Given the description of an element on the screen output the (x, y) to click on. 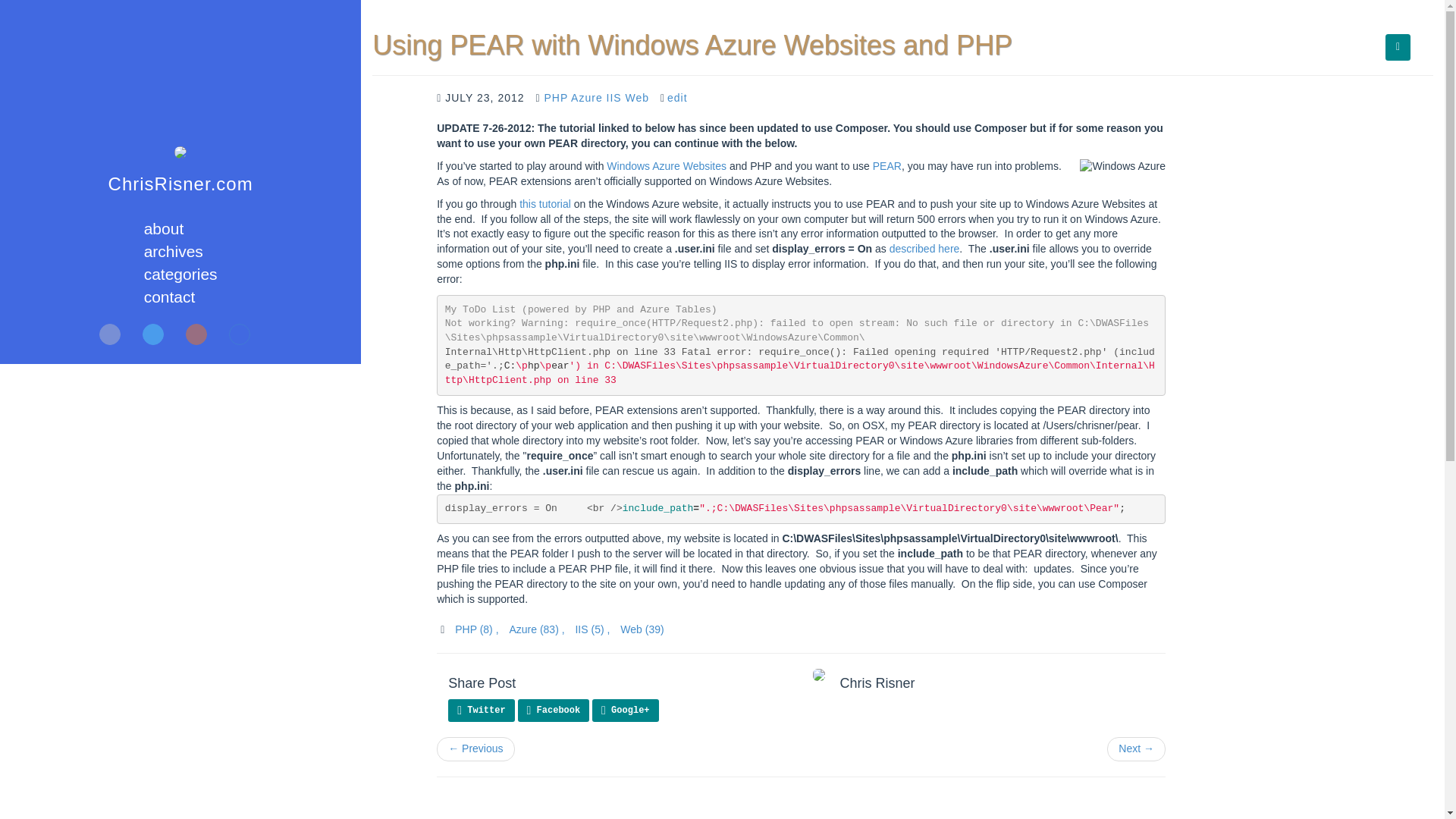
Keybase (239, 333)
Twitter (152, 333)
Web (639, 97)
Windows Azure (1122, 166)
IIS (616, 97)
RSS (196, 333)
contact (169, 296)
Windows Azure Websites and .users.ini file (924, 248)
GitHub (109, 333)
Windows Azure Websites (666, 165)
about (164, 228)
this tutorial (544, 203)
GitHub (109, 333)
categories (180, 273)
PHP (556, 97)
